Given the description of an element on the screen output the (x, y) to click on. 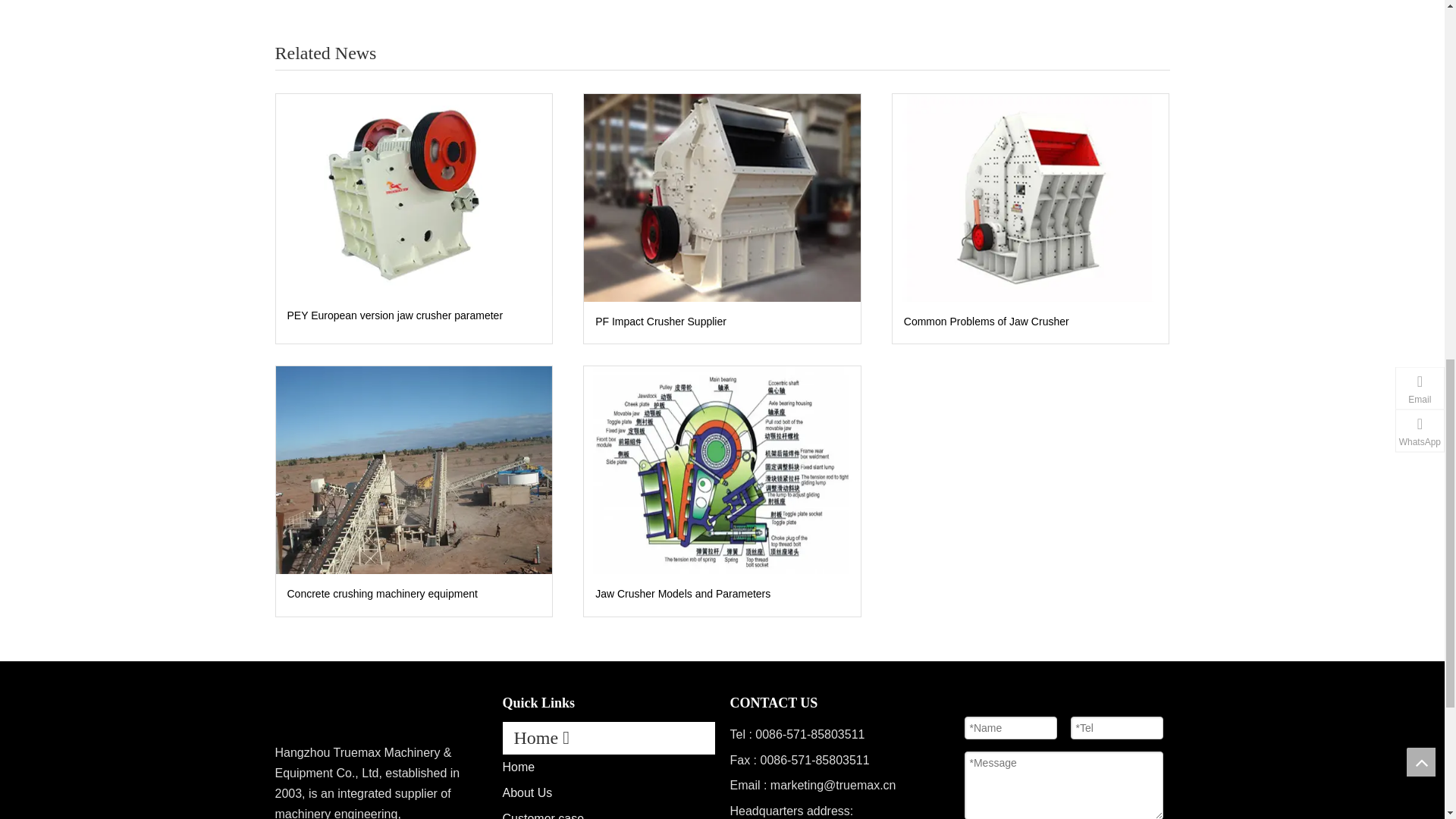
Customer case (542, 815)
PEY European version jaw crusher parameter (414, 194)
Common Problems of Jaw Crusher (1030, 197)
Jaw Crusher Models and Parameters (721, 594)
PF Impact Crusher Supplier (721, 197)
PF Impact Crusher Supplier (721, 321)
Common Problems of Jaw Crusher (1030, 321)
PEY European version jaw crusher parameter (413, 316)
About Us (526, 792)
Home (518, 766)
Concrete crushing machinery equipment (414, 469)
Concrete crushing machinery equipment (413, 594)
Jaw Crusher Models and Parameters (721, 469)
